Given the description of an element on the screen output the (x, y) to click on. 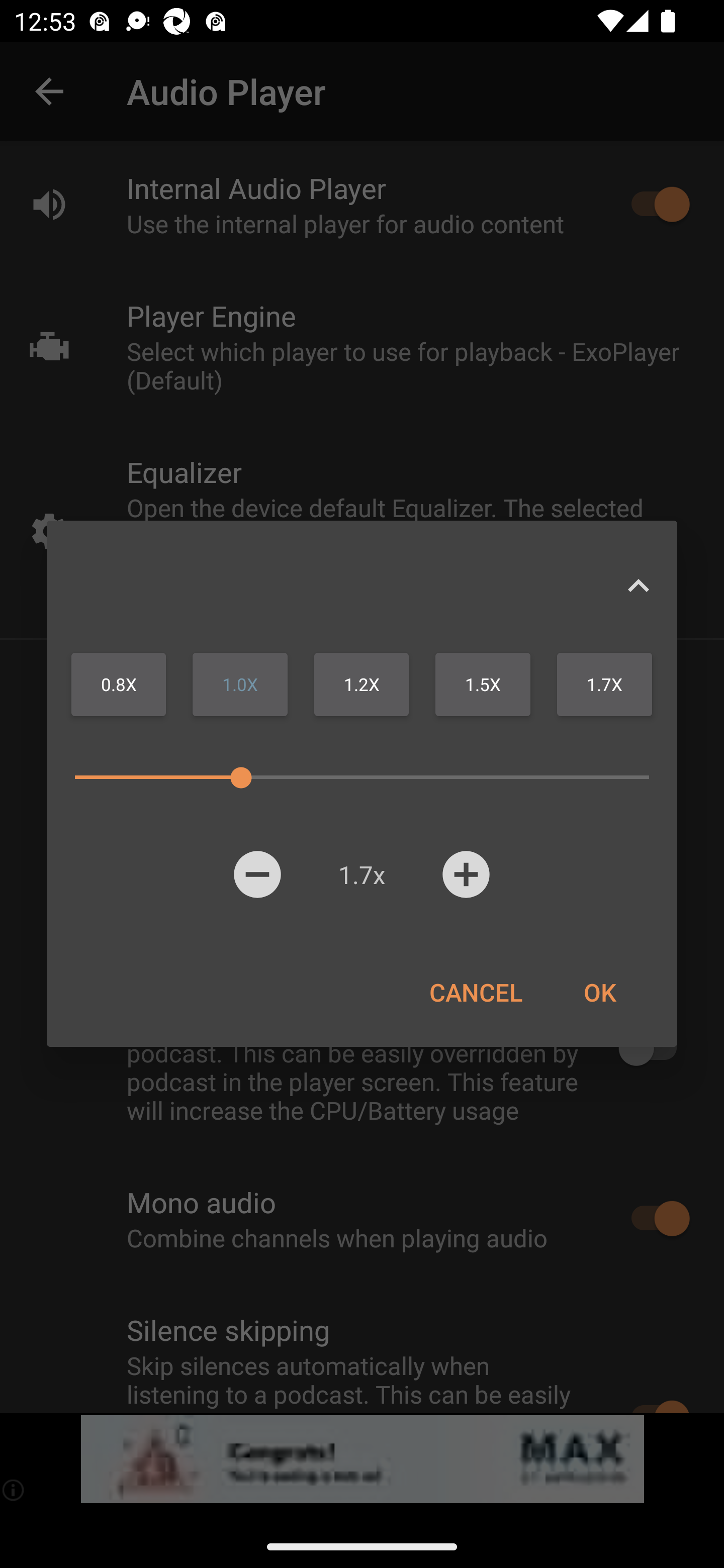
Expand (637, 585)
0.8X (118, 683)
1.0X (239, 683)
1.2X (360, 683)
1.5X (482, 683)
1.7X (604, 683)
1.7x (361, 873)
CANCEL (475, 992)
OK (599, 992)
